Given the description of an element on the screen output the (x, y) to click on. 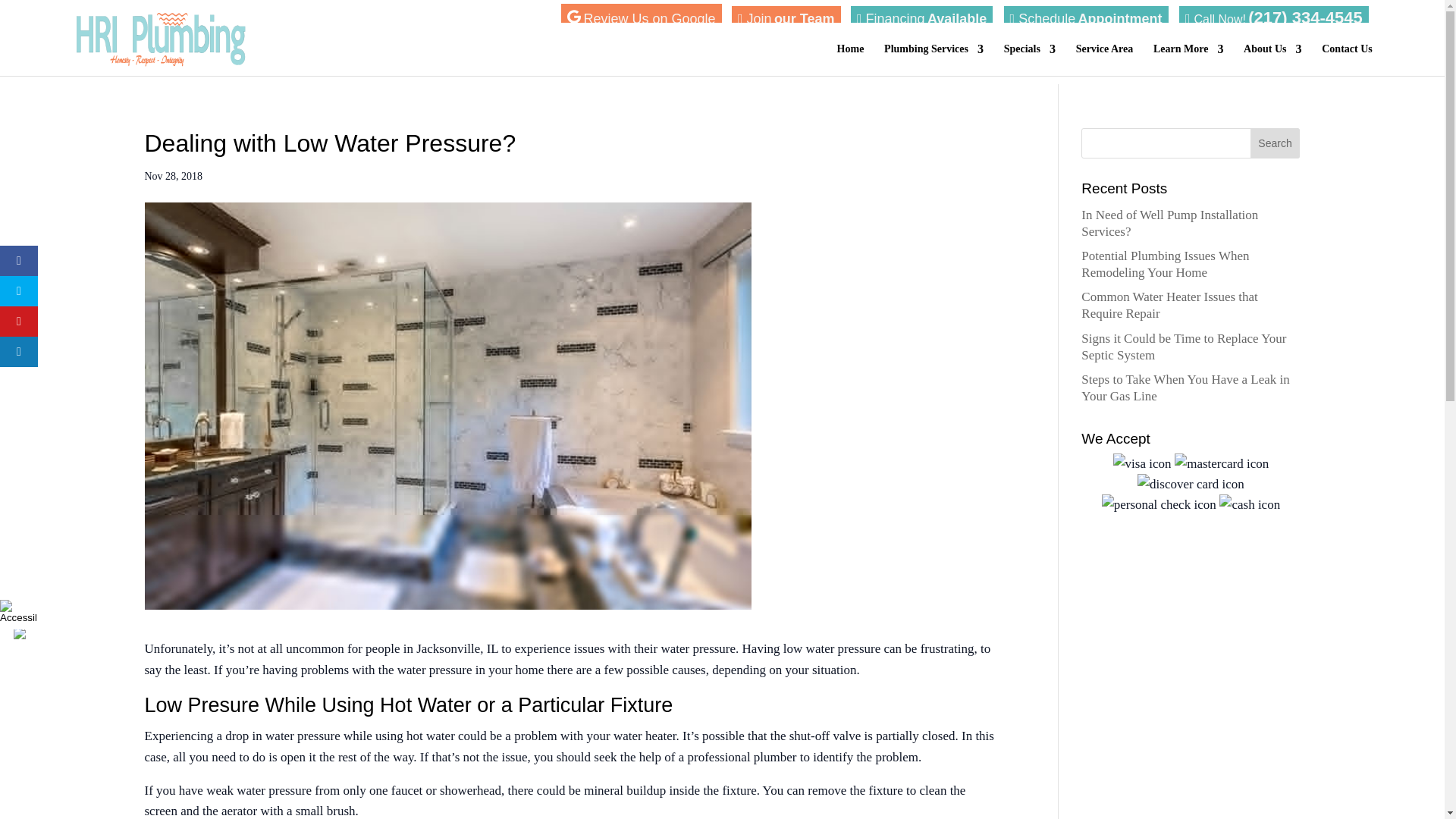
Review Us on Google (640, 17)
Financing Available (921, 18)
Search (1275, 142)
In Need of Well Pump Installation Services? (1169, 223)
Home (850, 58)
Contact Us (1347, 58)
Call Us Now! (1273, 18)
Schedule an Appointment (1086, 18)
Specials (1029, 58)
Schedule Appointment (1086, 18)
